Given the description of an element on the screen output the (x, y) to click on. 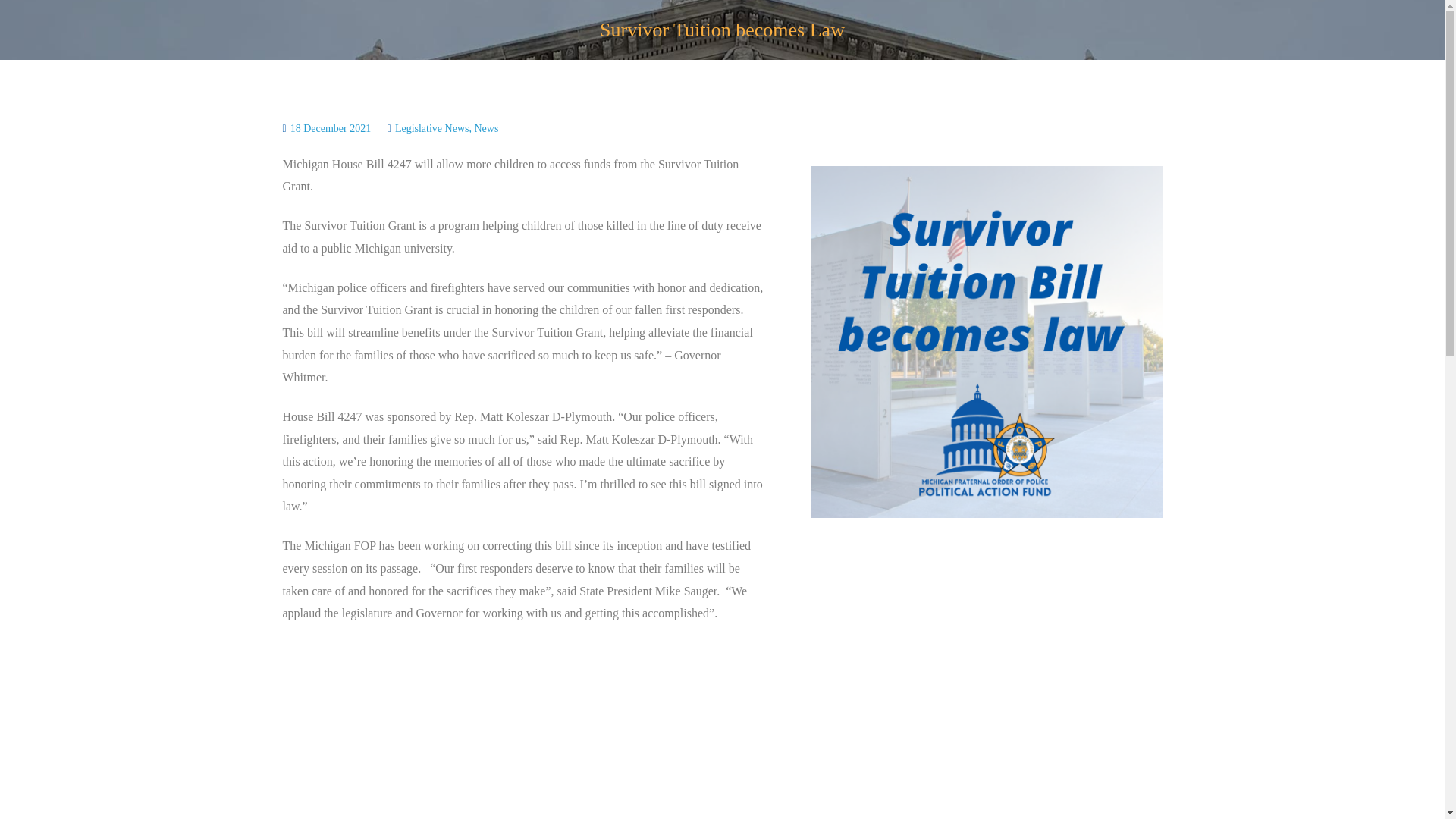
18 December 2021 (330, 128)
Survivor Tuition becomes Law (985, 340)
Legislative News (431, 128)
News (485, 128)
